Given the description of an element on the screen output the (x, y) to click on. 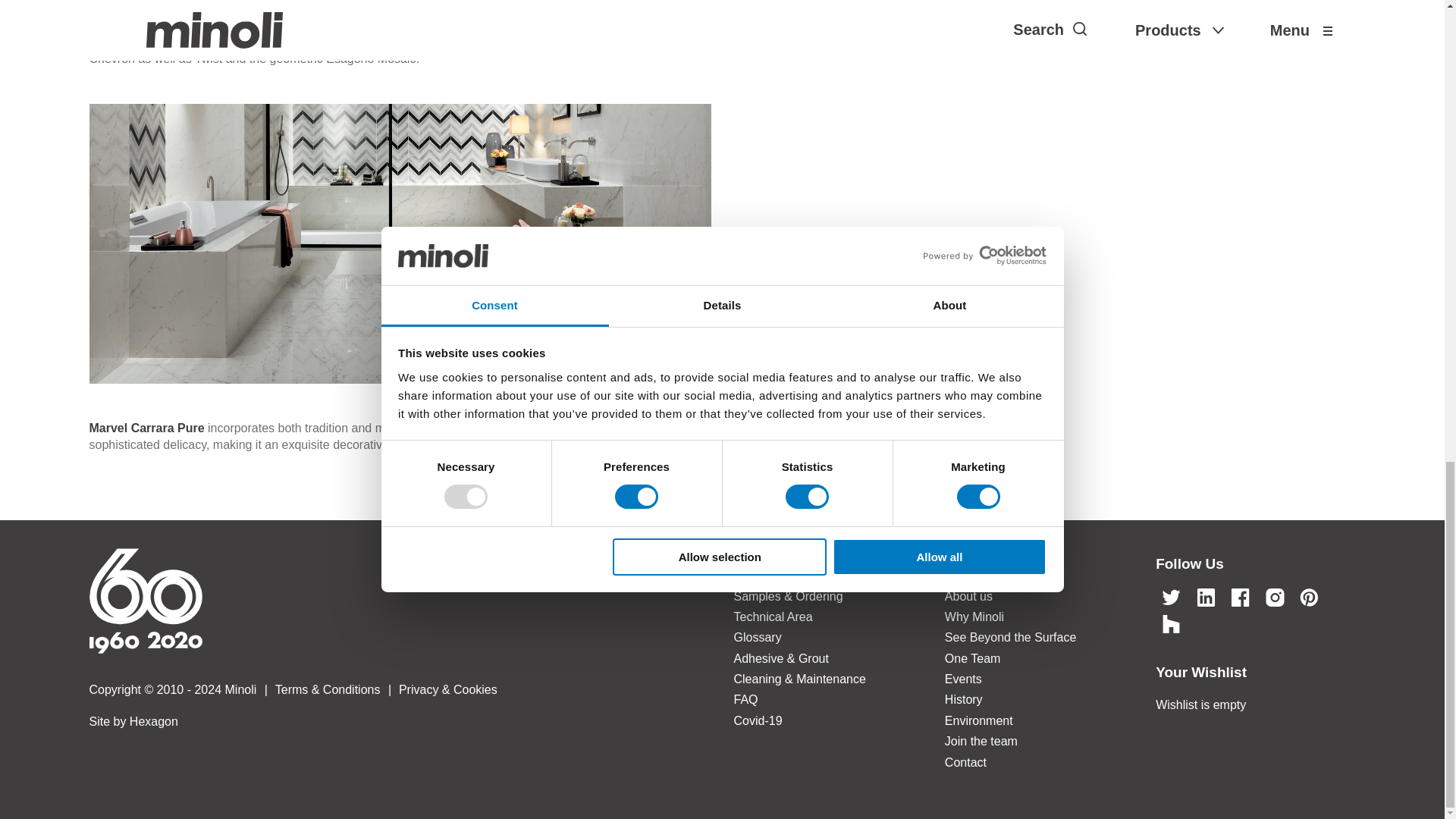
Hexagon Webworks (405, 721)
